Given the description of an element on the screen output the (x, y) to click on. 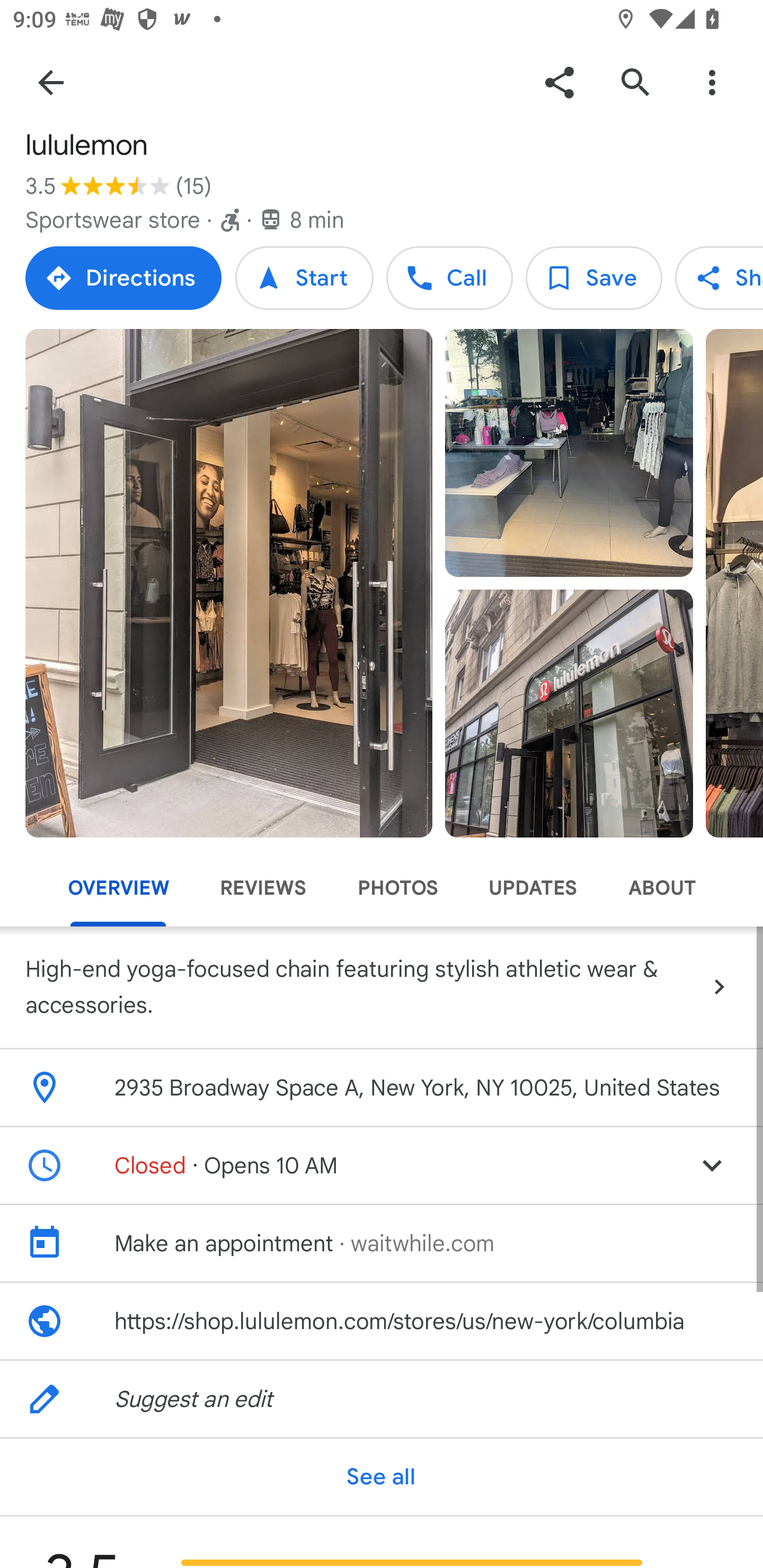
Back to Search (50, 81)
Share (559, 81)
Search (635, 81)
More options for lululemon (711, 81)
Start Start Start (304, 277)
Share lululemon Share Share lululemon (719, 277)
Photo (228, 583)
Photo (568, 453)
Photo (568, 713)
REVIEWS Reviews (262, 887)
PHOTOS Photos (397, 887)
UPDATES Updates (532, 887)
ABOUT About (661, 887)
Make an appointment · waitwhile.com (381, 1243)
Suggest an edit (381, 1399)
